Given the description of an element on the screen output the (x, y) to click on. 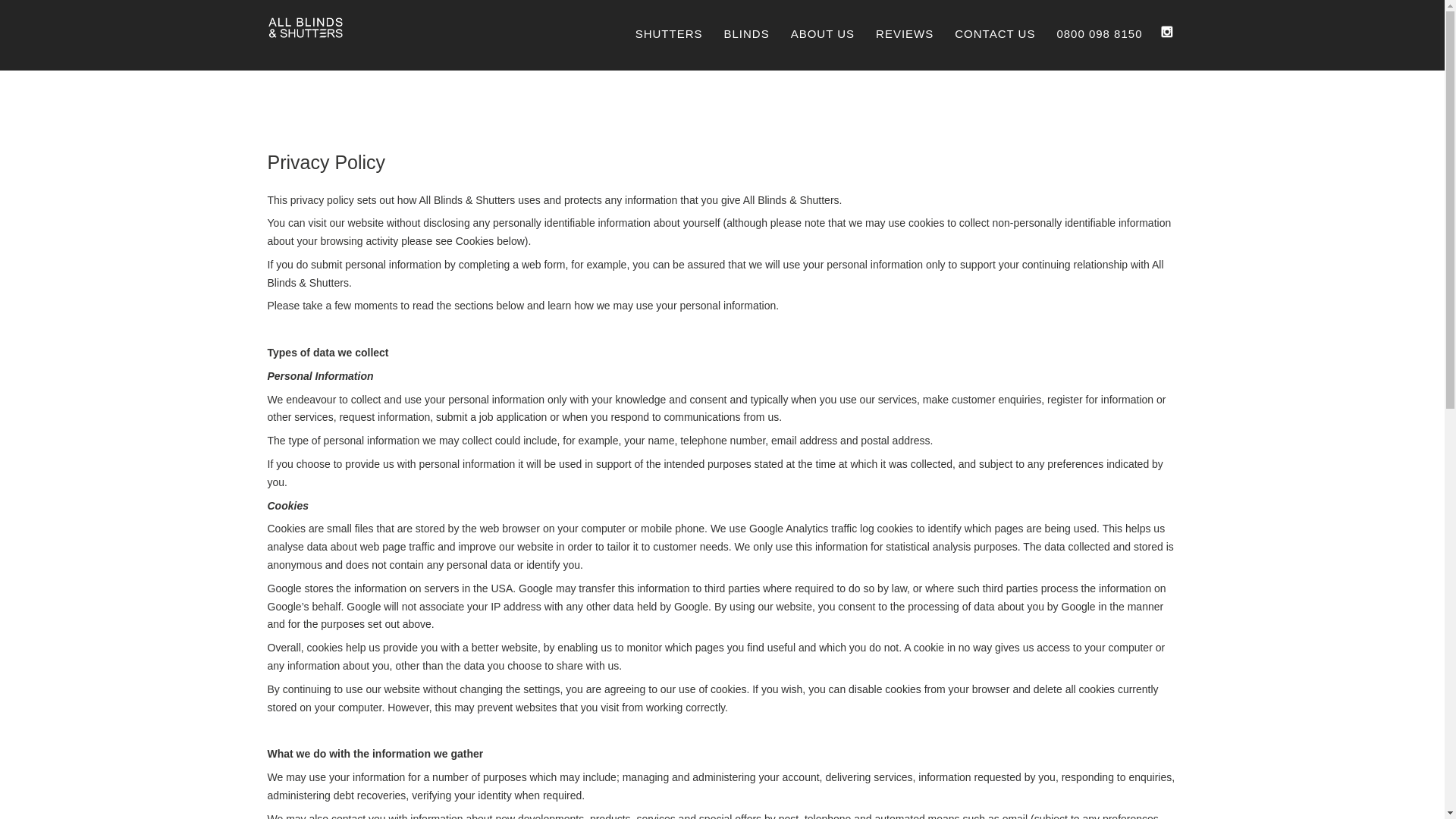
0800 098 8150 (1099, 33)
BLINDS (745, 33)
ABOUT US (822, 33)
CONTACT US (994, 33)
SHUTTERS (668, 33)
REVIEWS (903, 33)
